Given the description of an element on the screen output the (x, y) to click on. 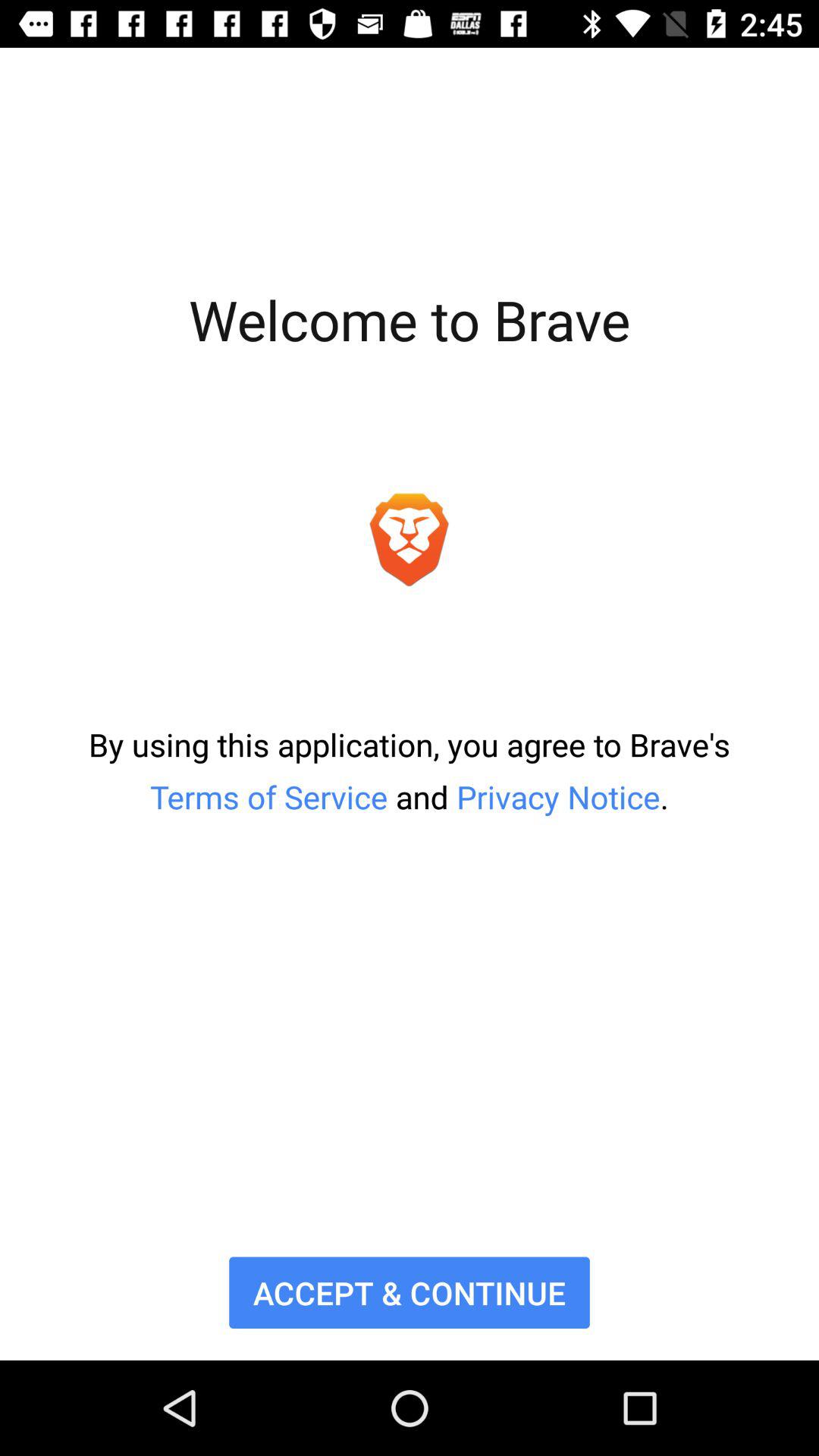
flip until by using this item (409, 770)
